Given the description of an element on the screen output the (x, y) to click on. 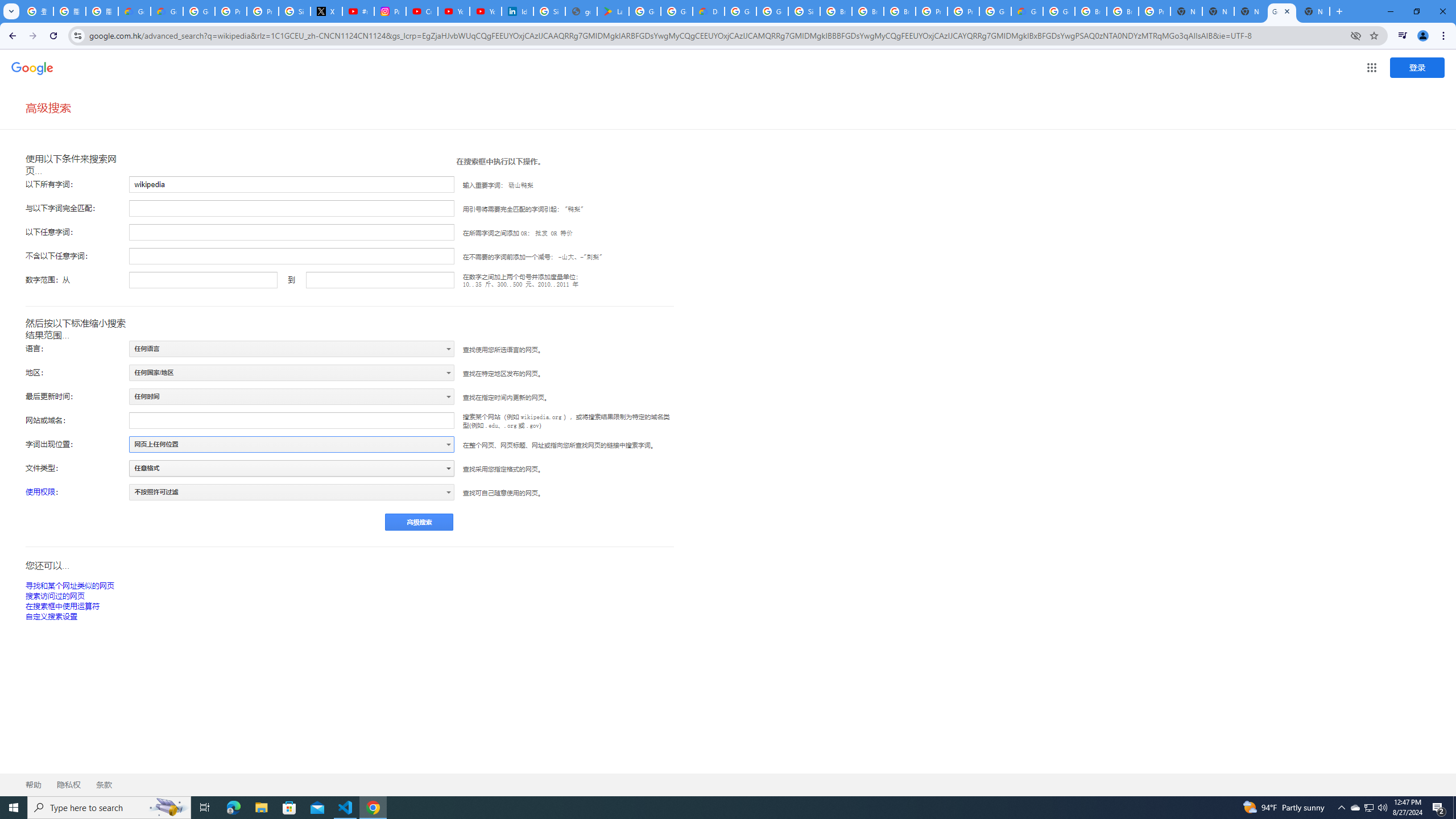
google_privacy_policy_en.pdf (581, 11)
#nbabasketballhighlights - YouTube (358, 11)
